Given the description of an element on the screen output the (x, y) to click on. 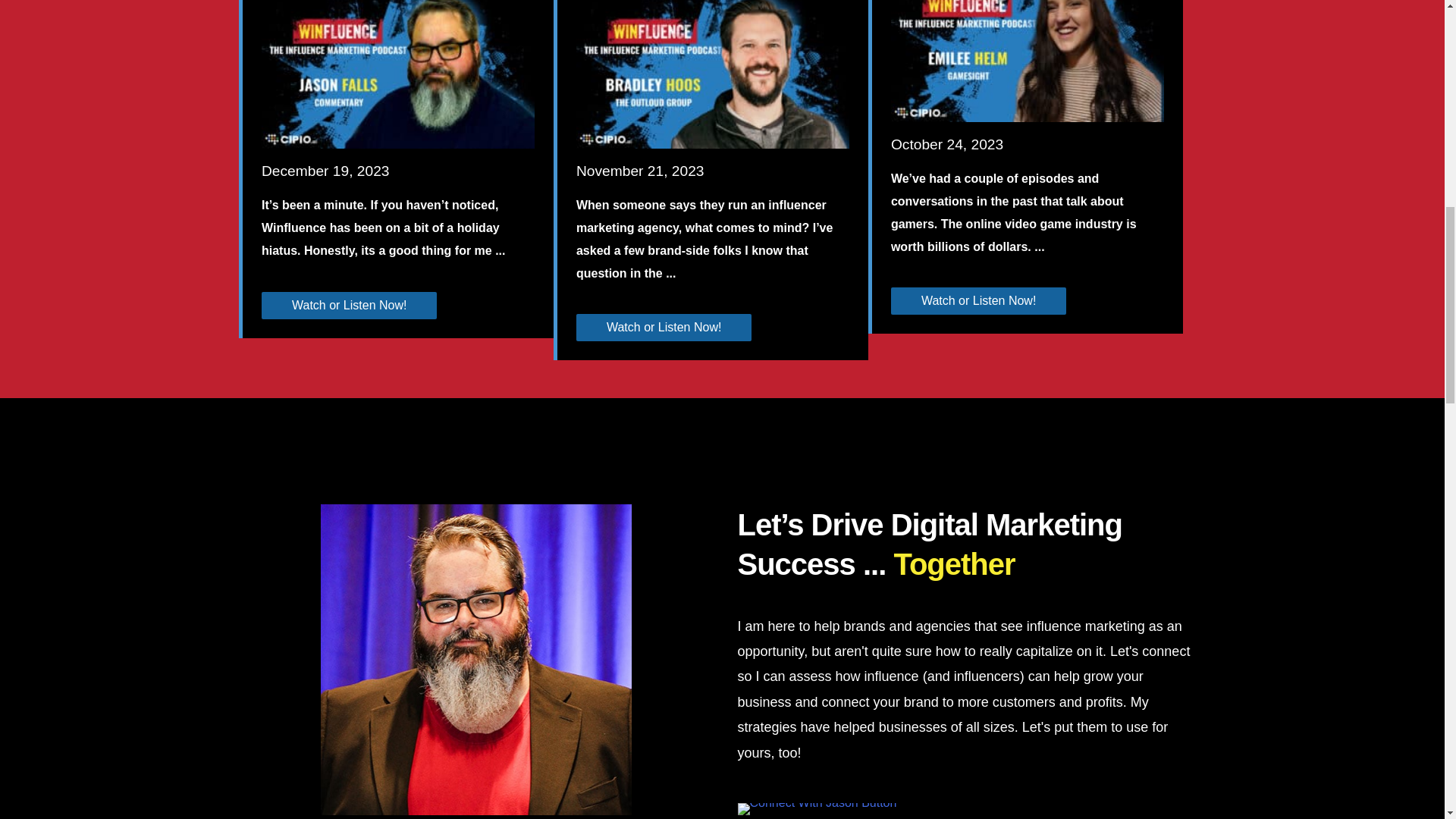
Connect With Jason Falls Button (816, 808)
Jason Falls 2020 Professional Headshot (475, 659)
Watch or Listen Now! (349, 305)
Watch or Listen Now! (663, 327)
Cracking the Code to Gaming Influence (1027, 43)
Watch or Listen Now! (978, 300)
